Given the description of an element on the screen output the (x, y) to click on. 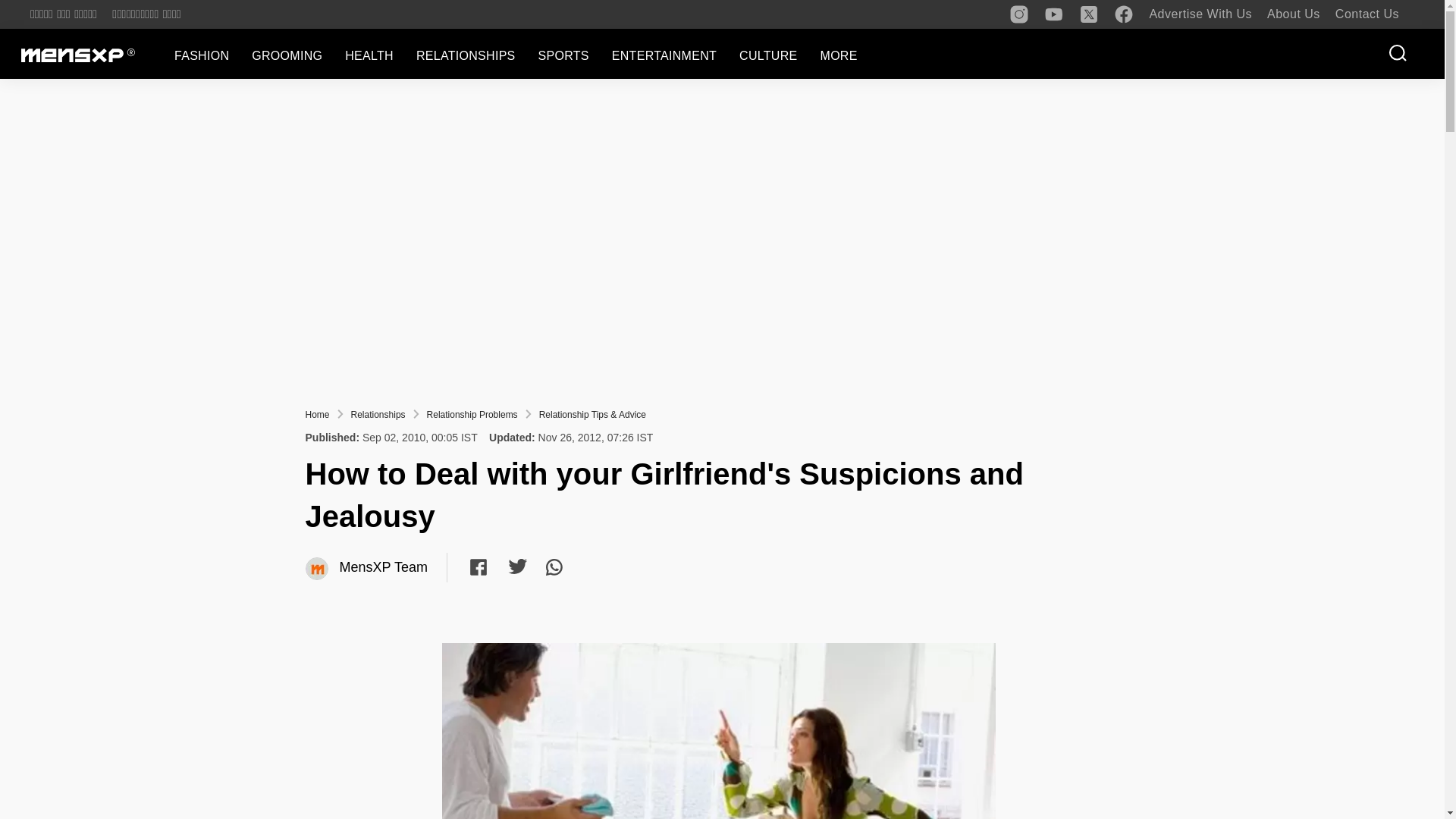
About Us (1293, 13)
Contact Us  (1367, 13)
deal with suspicious girlfriend (717, 730)
Advertise With Us (1200, 13)
Home (316, 414)
Relationships (378, 414)
Relationship Problems (472, 414)
About Us (1293, 13)
MensXP Team (317, 568)
Contact Us (1367, 13)
Advertise With Us (1200, 13)
